Given the description of an element on the screen output the (x, y) to click on. 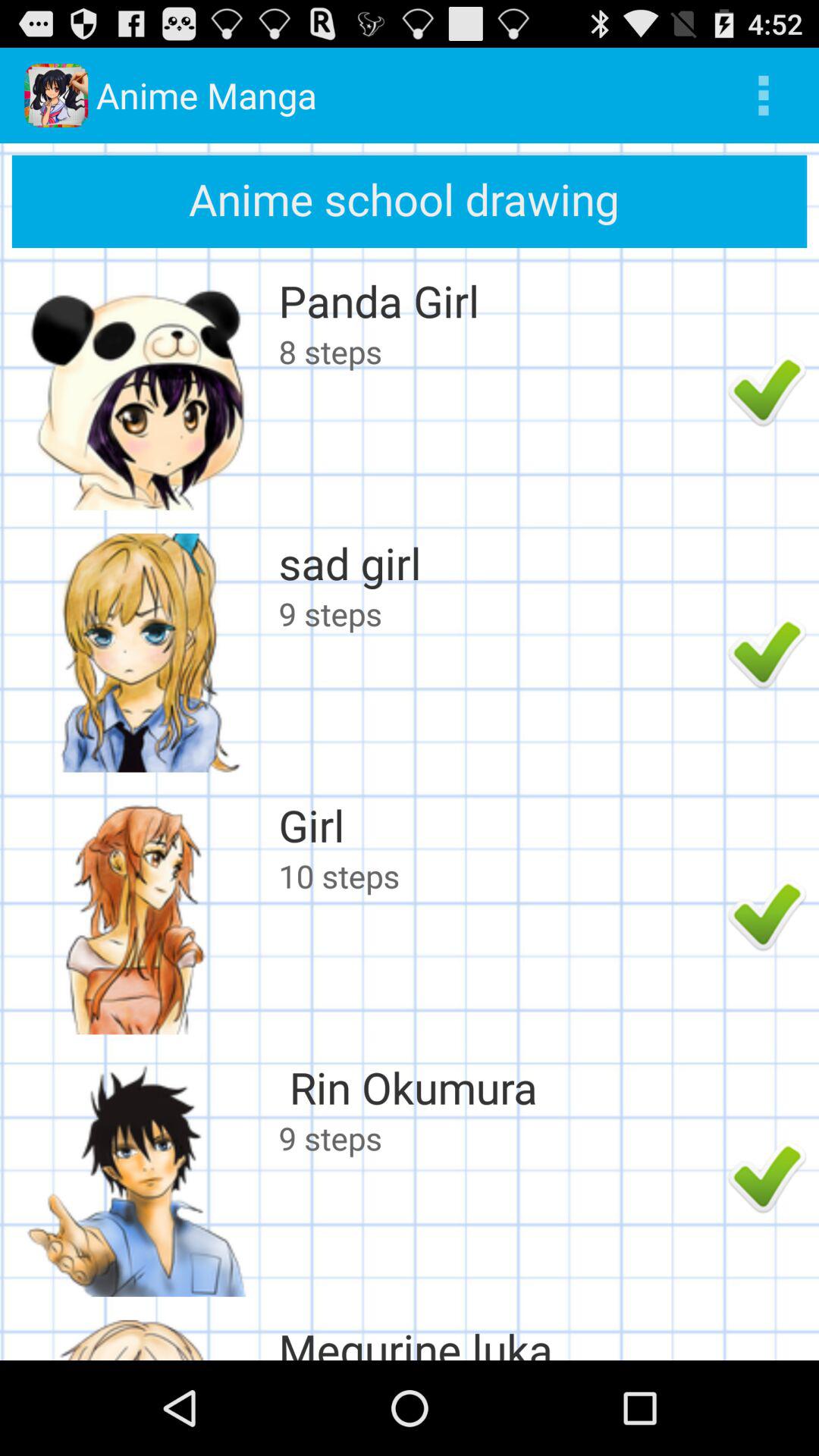
turn on app below the panda girl item (498, 351)
